Given the description of an element on the screen output the (x, y) to click on. 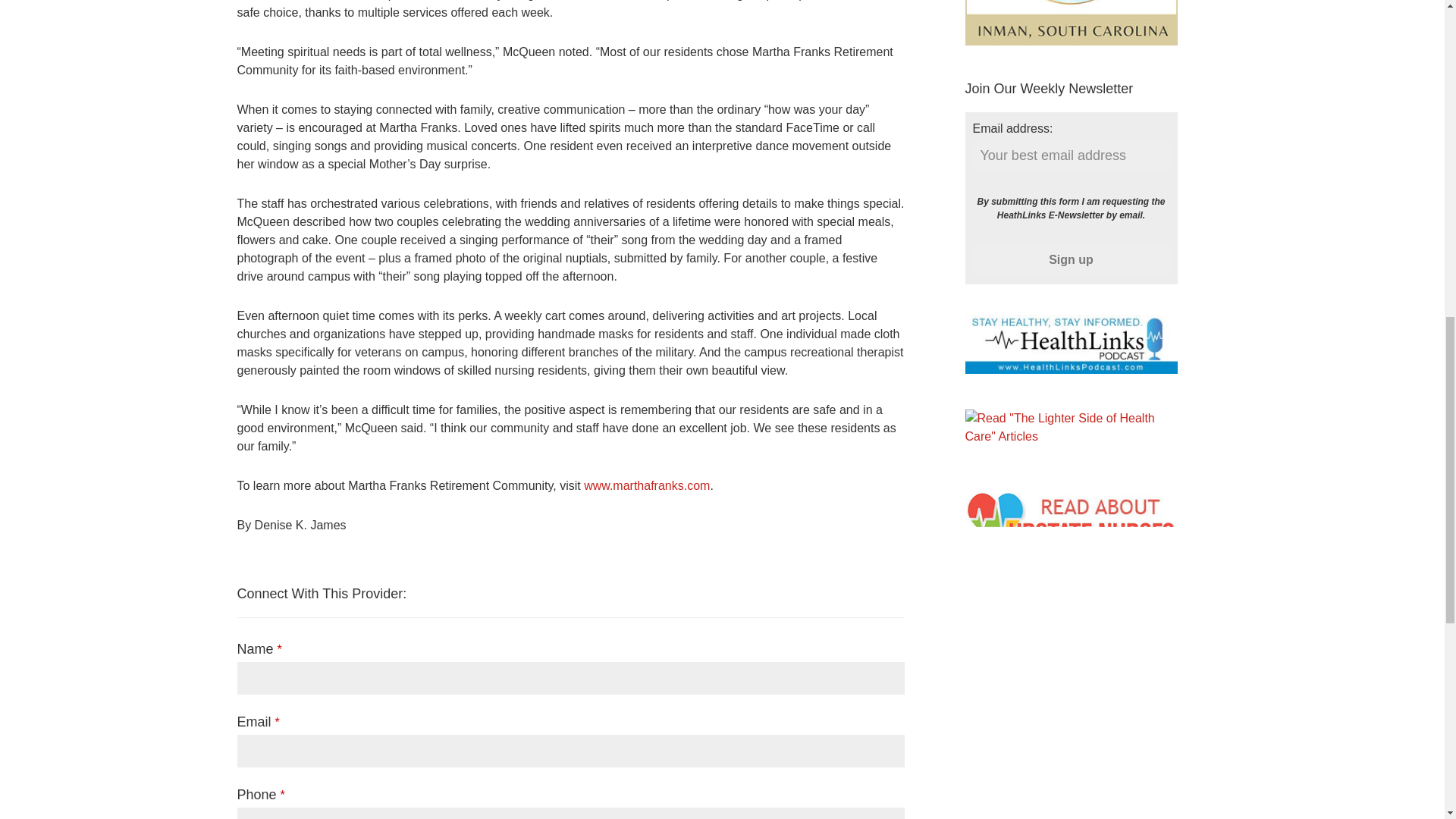
Sign up (1070, 259)
www.marthafranks.com (646, 485)
Sign up (1070, 259)
